Given the description of an element on the screen output the (x, y) to click on. 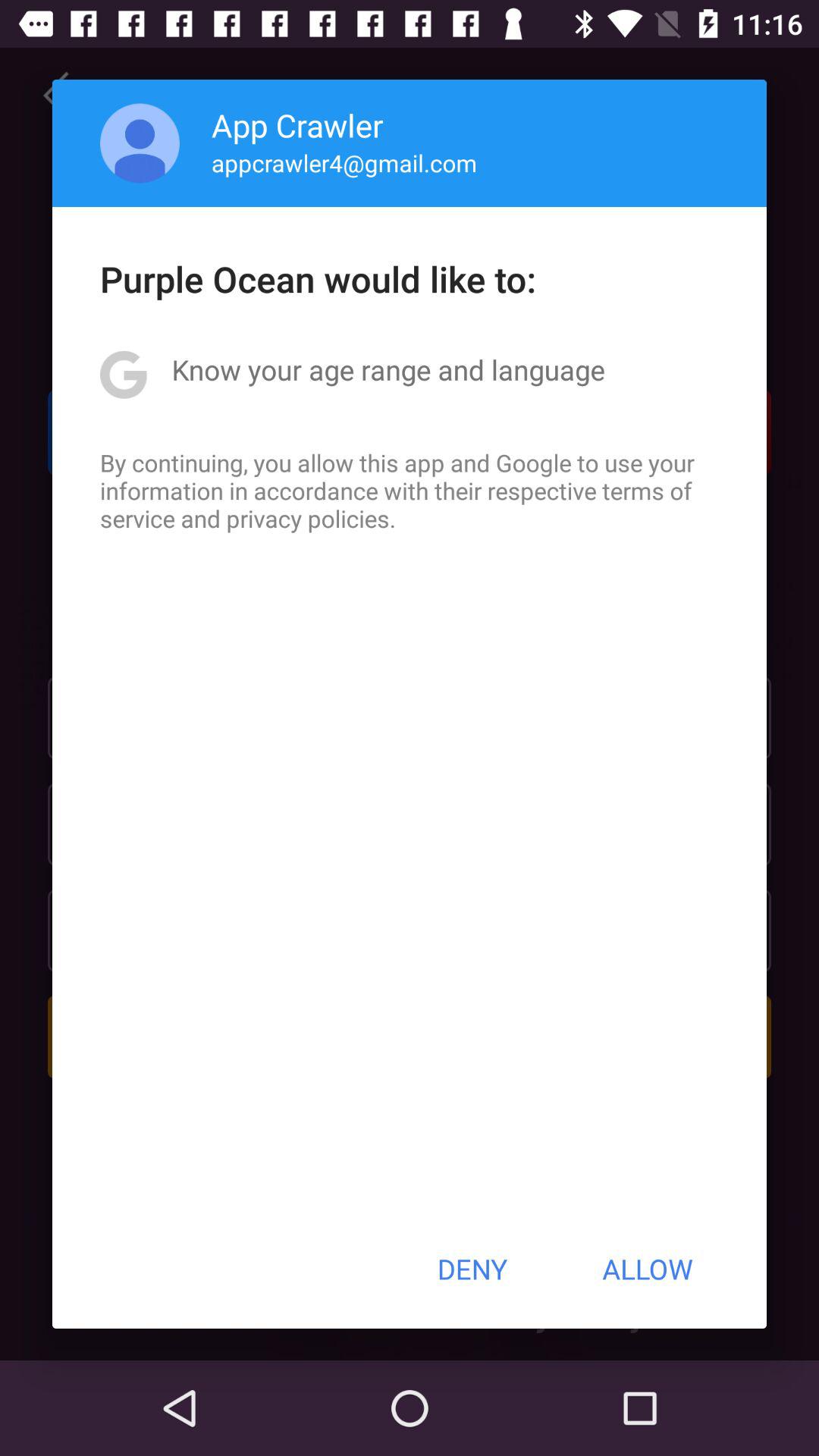
choose the icon to the left of the allow button (471, 1268)
